Given the description of an element on the screen output the (x, y) to click on. 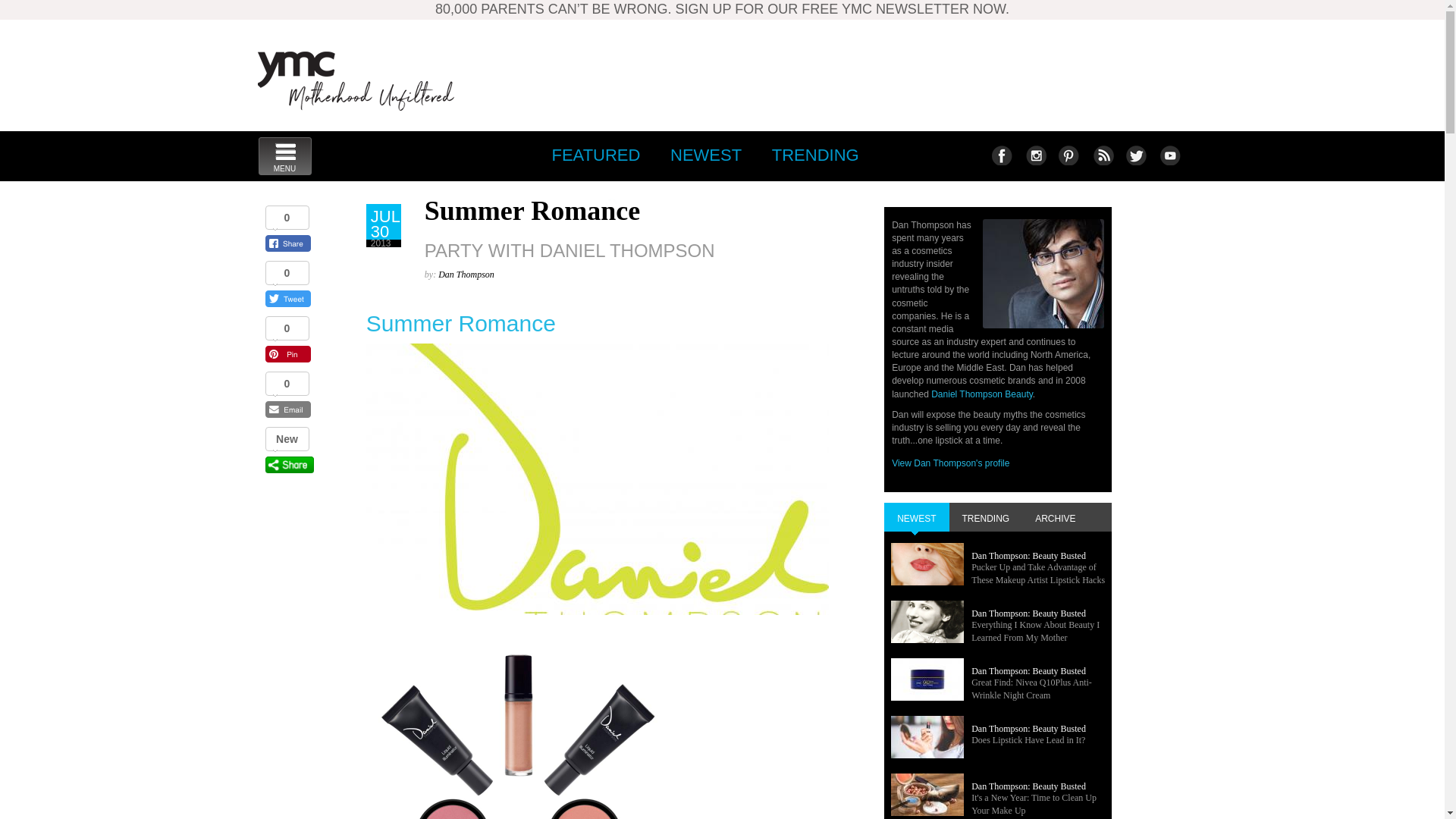
FEATURED (595, 155)
NEWEST (705, 155)
Pinterest (284, 156)
Twitter (1068, 154)
Facebook (1135, 154)
TRENDING (1001, 154)
RSS (815, 155)
YouTube (1101, 154)
SEARCH (1168, 154)
Home (591, 205)
Skip to main content (355, 79)
